Given the description of an element on the screen output the (x, y) to click on. 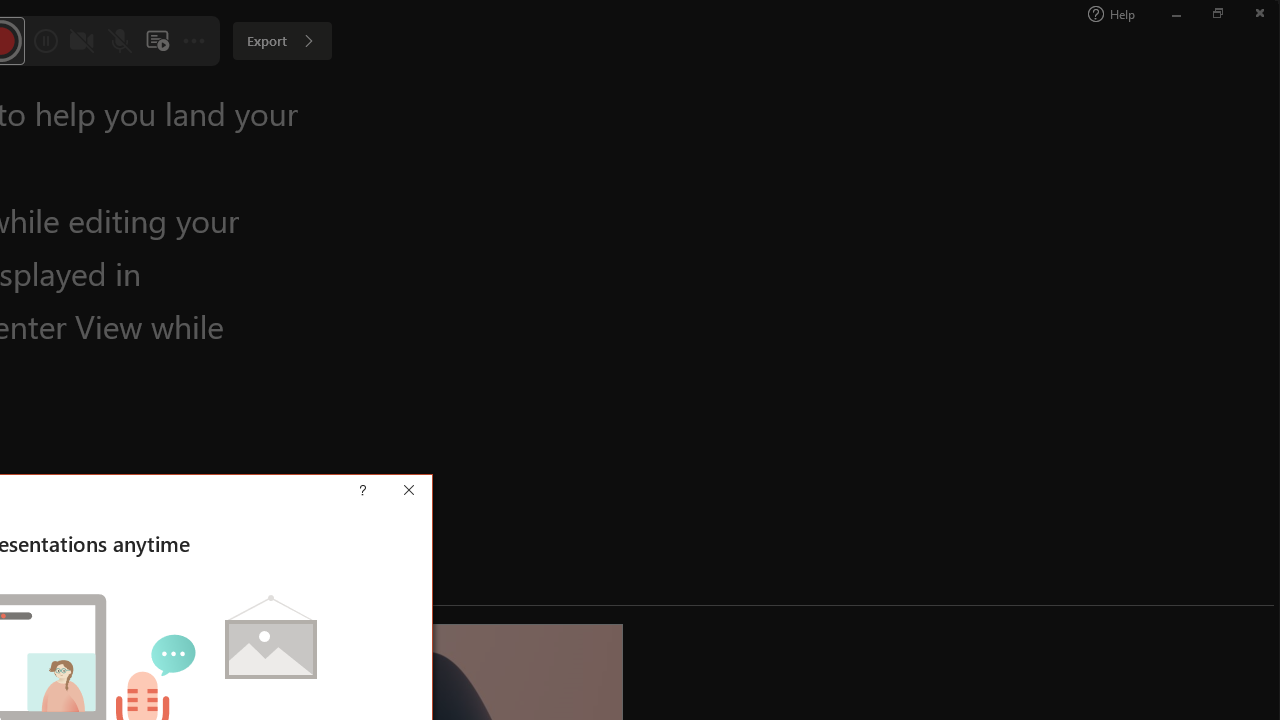
Gallery (544, 100)
Damask (171, 100)
Format Background (1111, 102)
AutomationID: ThemeVariantsGallery (822, 99)
Dividend (265, 100)
Integral Variant 3 (861, 100)
Themes (598, 120)
